Given the description of an element on the screen output the (x, y) to click on. 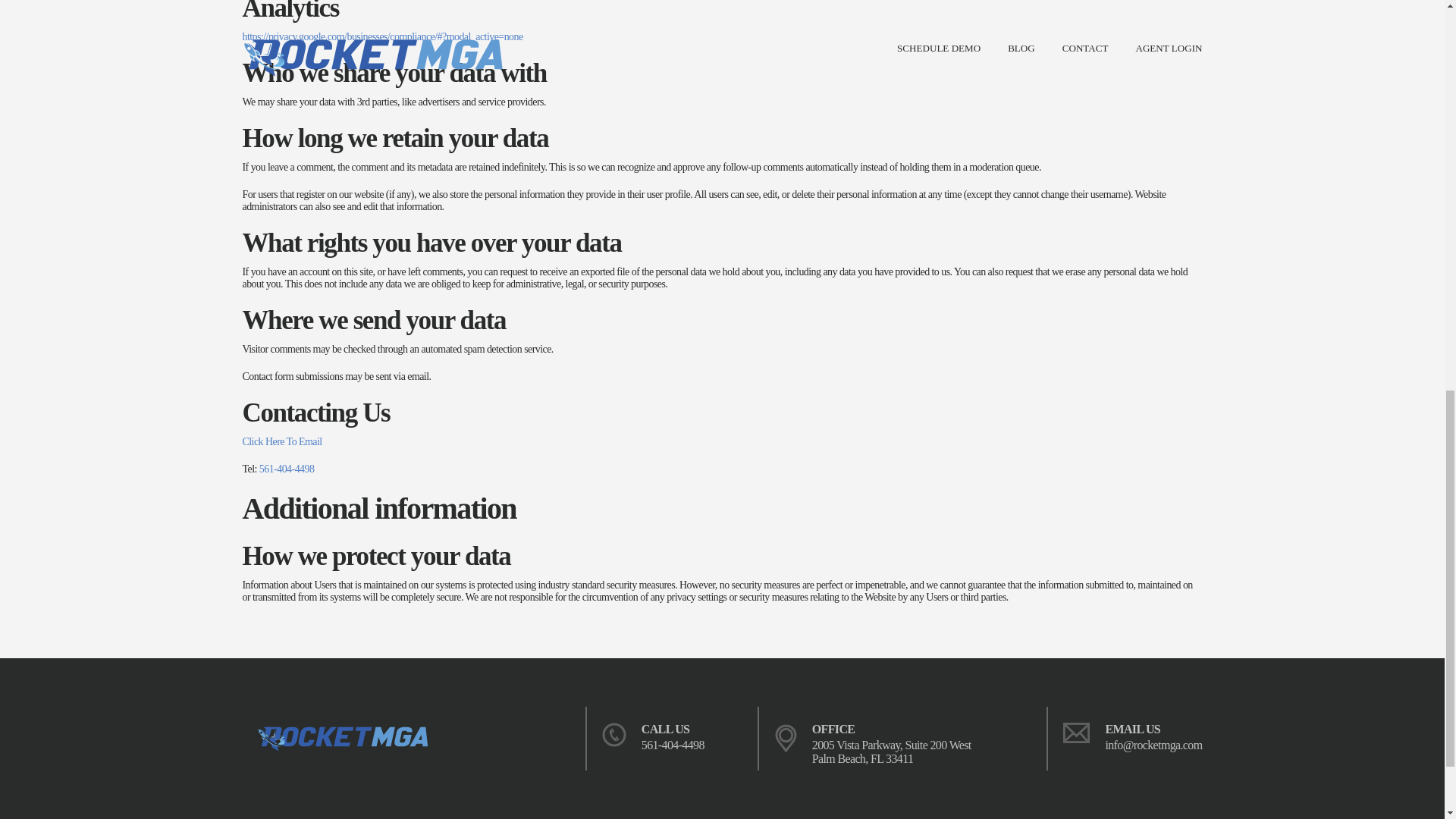
561-404-4498 (673, 744)
Click Here To Email (282, 441)
2005 Vista Parkway, Suite 200 West Palm Beach, FL 33411 (891, 751)
561-404-4498 (286, 469)
